Given the description of an element on the screen output the (x, y) to click on. 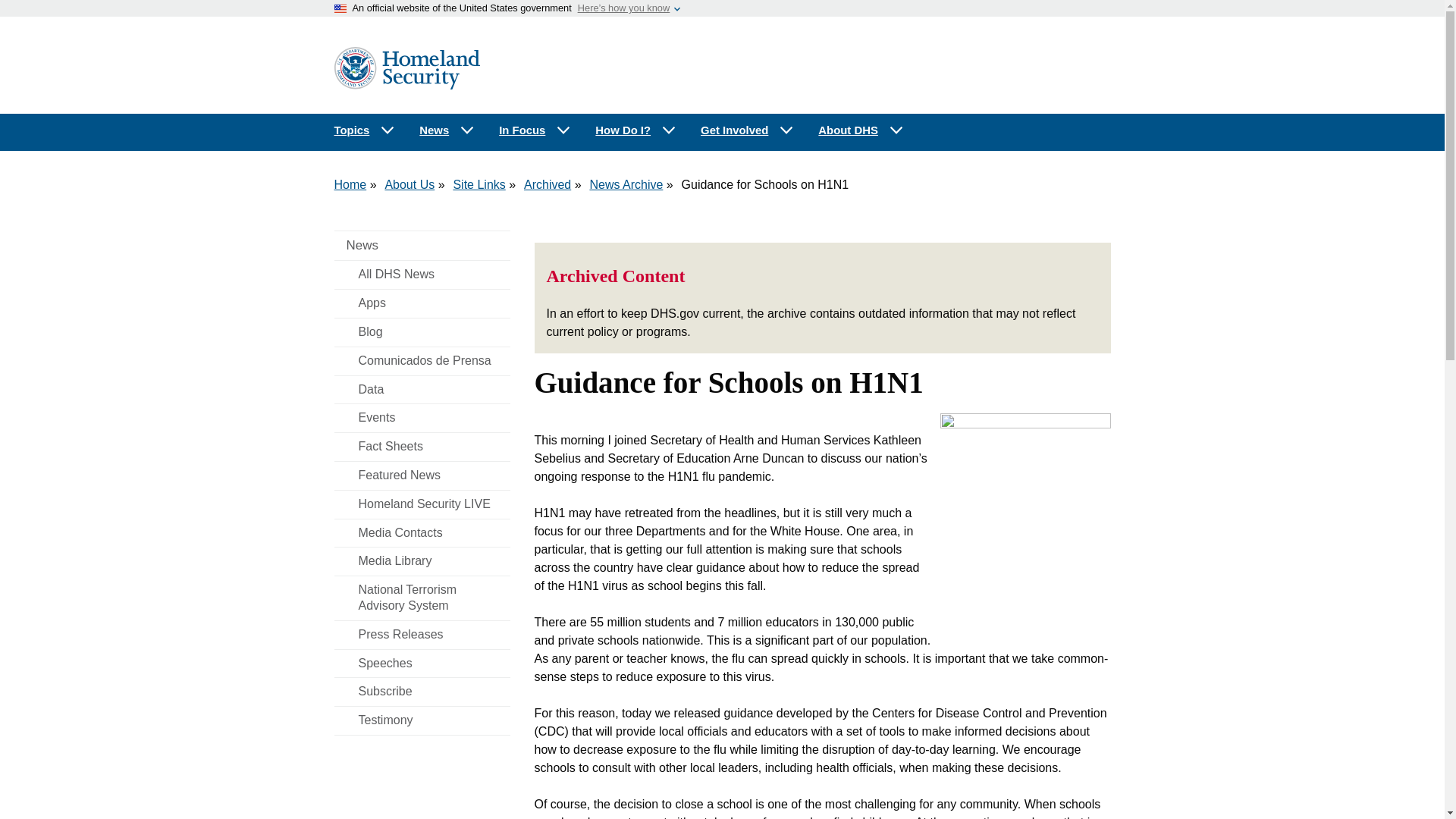
Apps (421, 303)
Get Involved (747, 130)
Featured News (421, 475)
Featured News (421, 475)
News Archive (625, 184)
Topics (364, 130)
Media Library (421, 561)
News (421, 245)
Events (421, 418)
Press Releases (421, 634)
Homeland Security LIVE (421, 504)
About DHS (860, 130)
Blog (421, 332)
Site Links (478, 184)
How Do I? (635, 130)
